Given the description of an element on the screen output the (x, y) to click on. 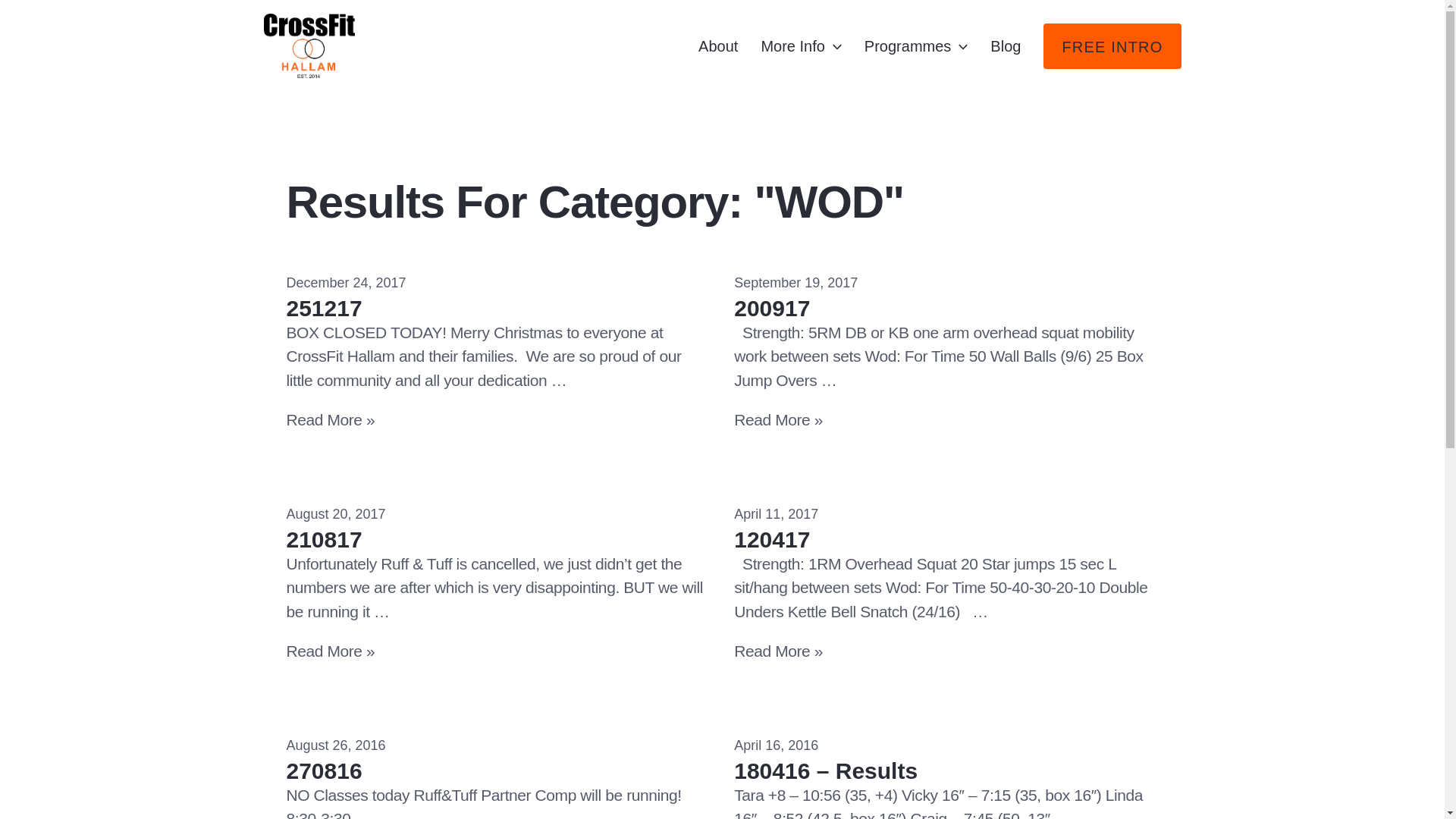
About Element type: text (718, 46)
Blog Element type: text (1005, 46)
Programmes Element type: text (916, 46)
December 24, 2017
251217 Element type: text (498, 296)
More Info Element type: text (800, 46)
April 11, 2017
120417 Element type: text (945, 528)
August 26, 2016
270816 Element type: text (498, 759)
September 19, 2017
200917 Element type: text (945, 296)
FREE INTRO Element type: text (1111, 46)
August 20, 2017
210817 Element type: text (498, 528)
